Given the description of an element on the screen output the (x, y) to click on. 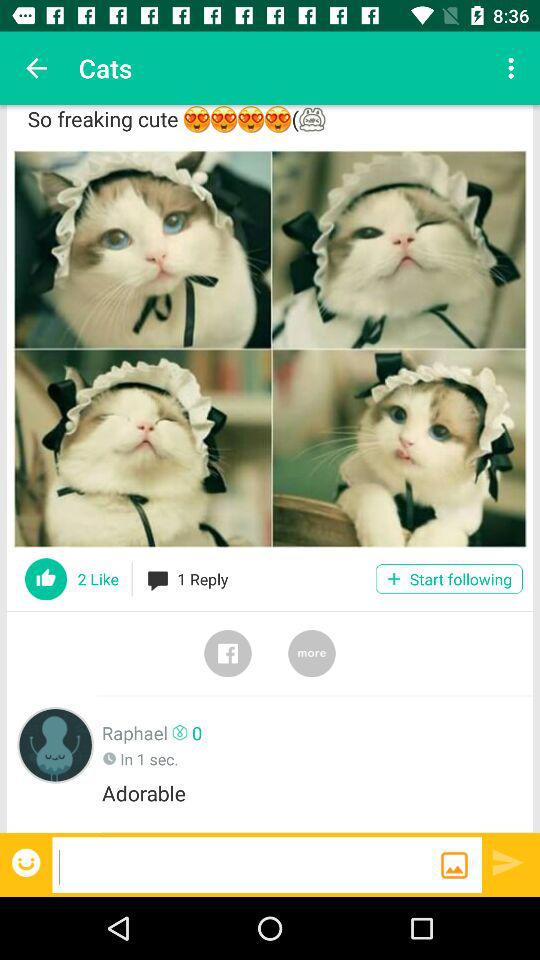
turn off the item next to raphael item (55, 744)
